Given the description of an element on the screen output the (x, y) to click on. 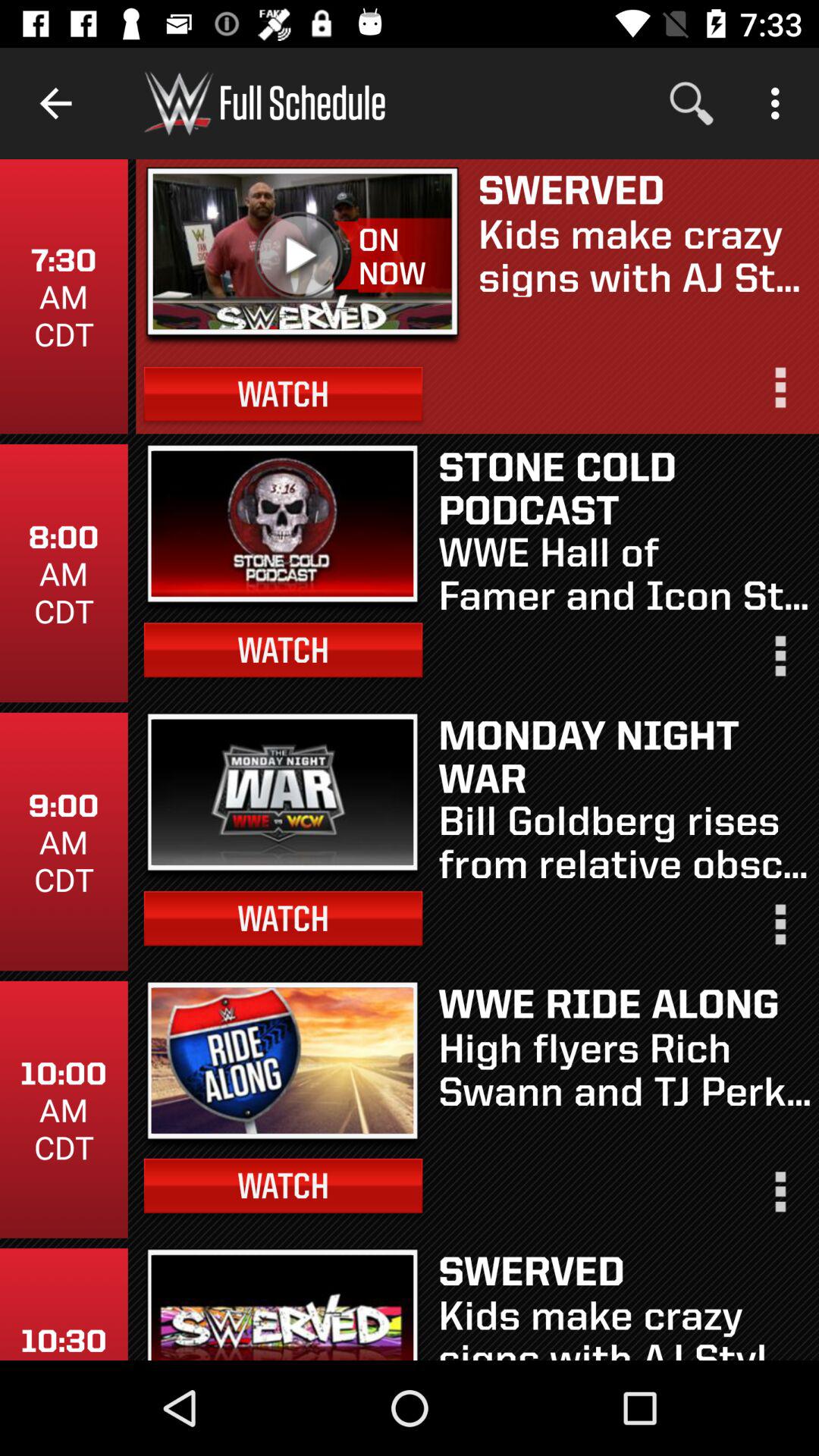
show more infos (779, 1198)
